Given the description of an element on the screen output the (x, y) to click on. 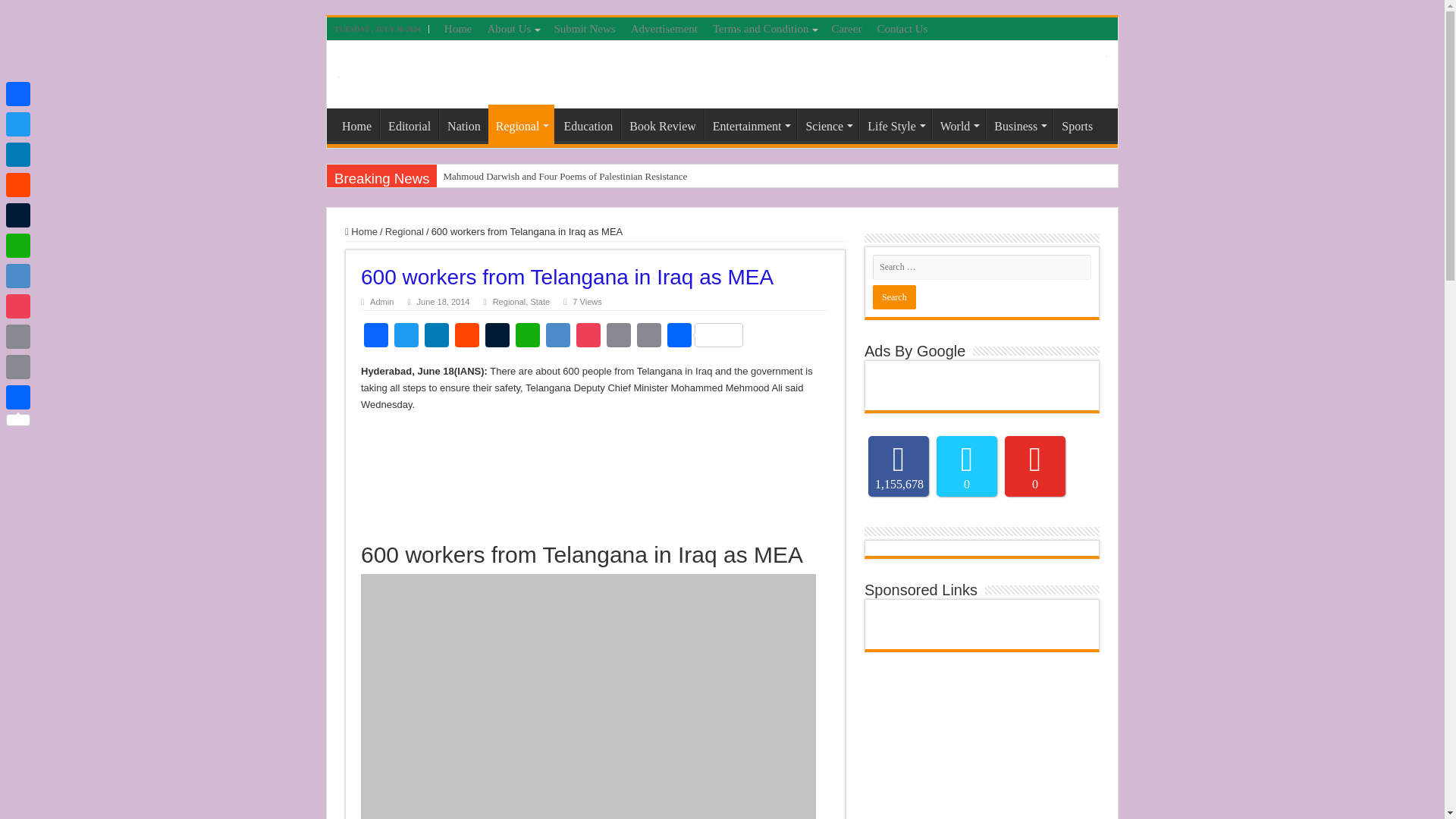
Search (893, 297)
Home (458, 28)
Contact Us (901, 28)
Education (587, 124)
Mahmoud Darwish and Four Poems of Palestinian Resistance (662, 176)
Entertainment (750, 124)
Book Review (662, 124)
Science (827, 124)
Terms and Condition (764, 28)
About Us (512, 28)
Home (356, 124)
Search (893, 297)
Advertisement (663, 28)
Submit News (584, 28)
Life Style (895, 124)
